Given the description of an element on the screen output the (x, y) to click on. 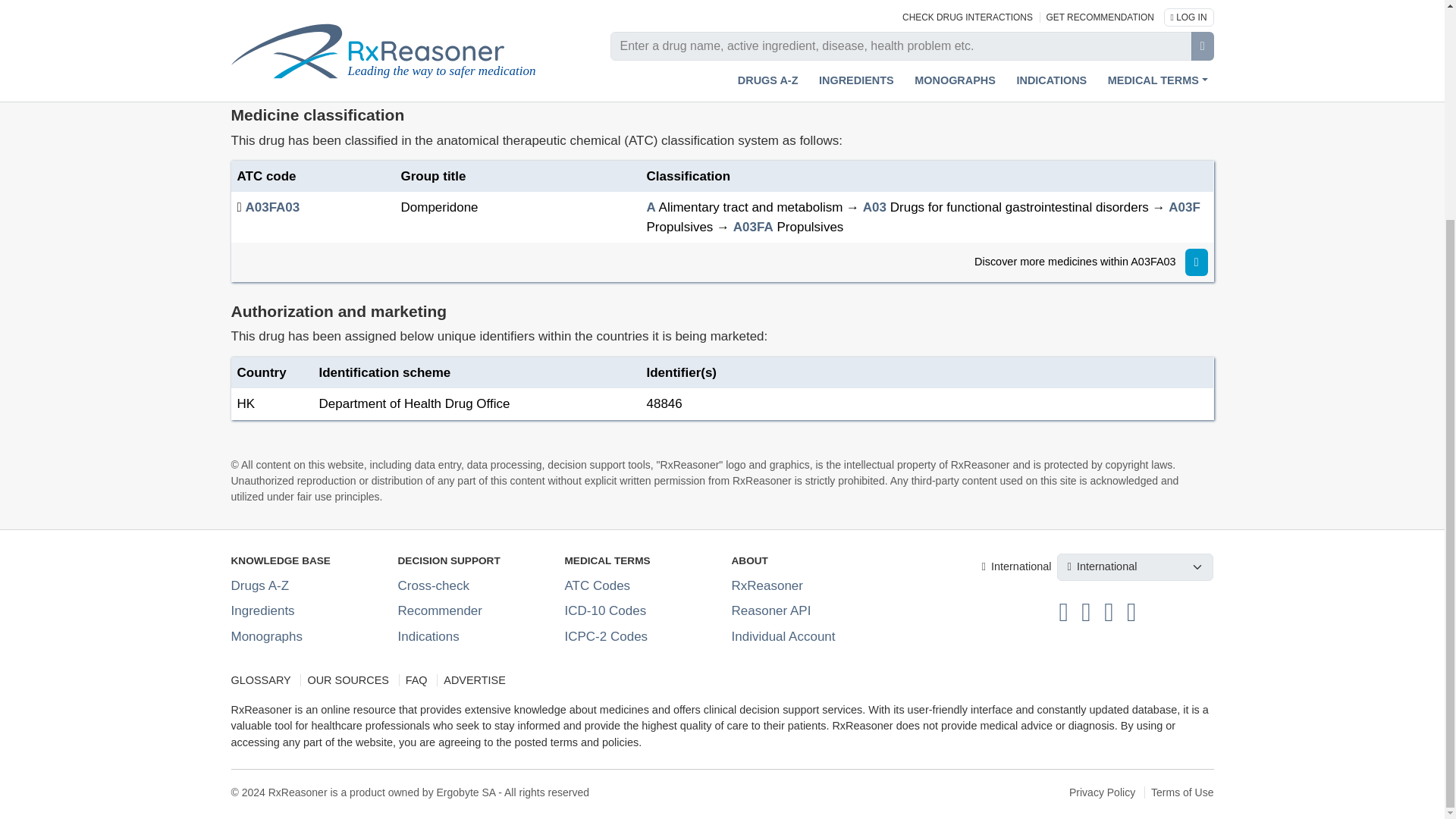
A03F (1184, 206)
GLOSSARY (263, 680)
Drugs A-Z (259, 585)
A03FA03 (271, 206)
OUR SOURCES (346, 680)
Ingredients (262, 610)
A03 (874, 206)
ICPC-2 Codes (605, 636)
Indications (427, 636)
Individual Account (782, 636)
Reasoner API (770, 610)
ICD-10 Codes (605, 610)
RxReasoner (766, 585)
ATC Codes (597, 585)
Monographs (266, 636)
